Given the description of an element on the screen output the (x, y) to click on. 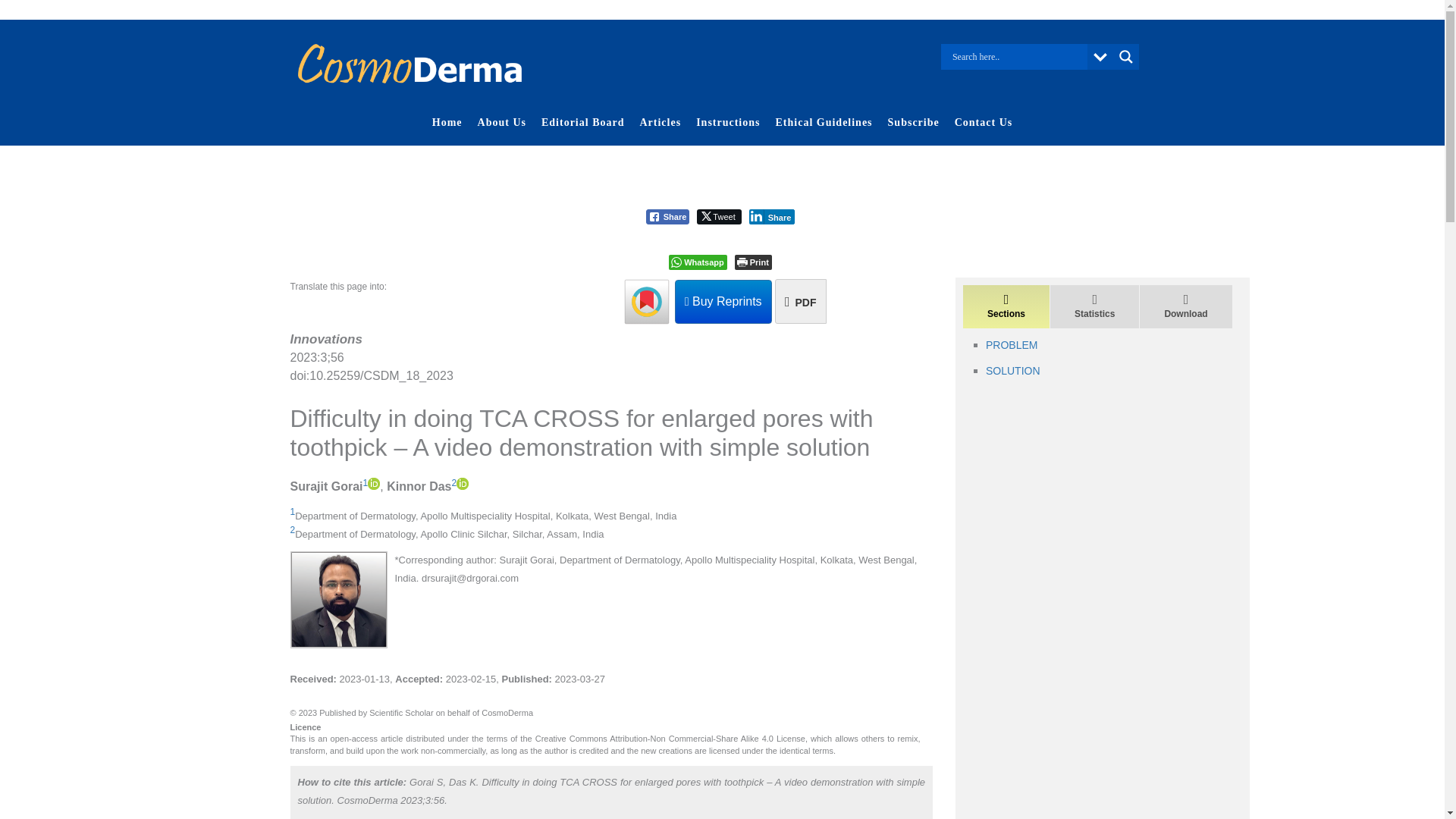
Instructions (727, 122)
Contact Us (983, 122)
Articles (659, 122)
About Us (502, 122)
Subscribe (913, 122)
Home (447, 122)
Editorial Board (582, 122)
